Given the description of an element on the screen output the (x, y) to click on. 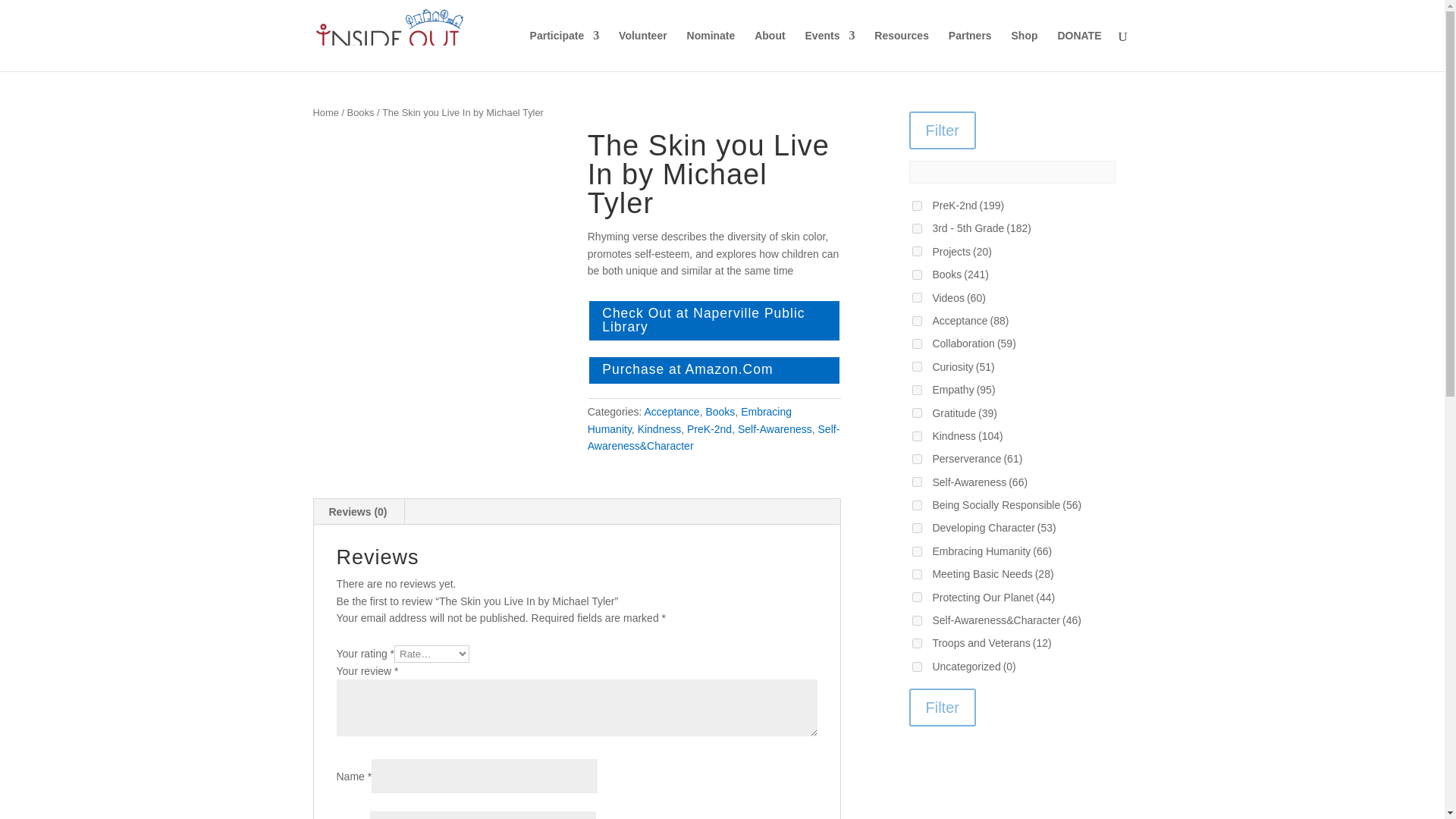
Self-Awareness (775, 428)
105 (916, 228)
95 (916, 275)
Nominate (711, 50)
Home (325, 112)
Embracing Humanity (690, 419)
107 (916, 481)
113 (916, 459)
100 (916, 251)
PreK-2nd (709, 428)
